Given the description of an element on the screen output the (x, y) to click on. 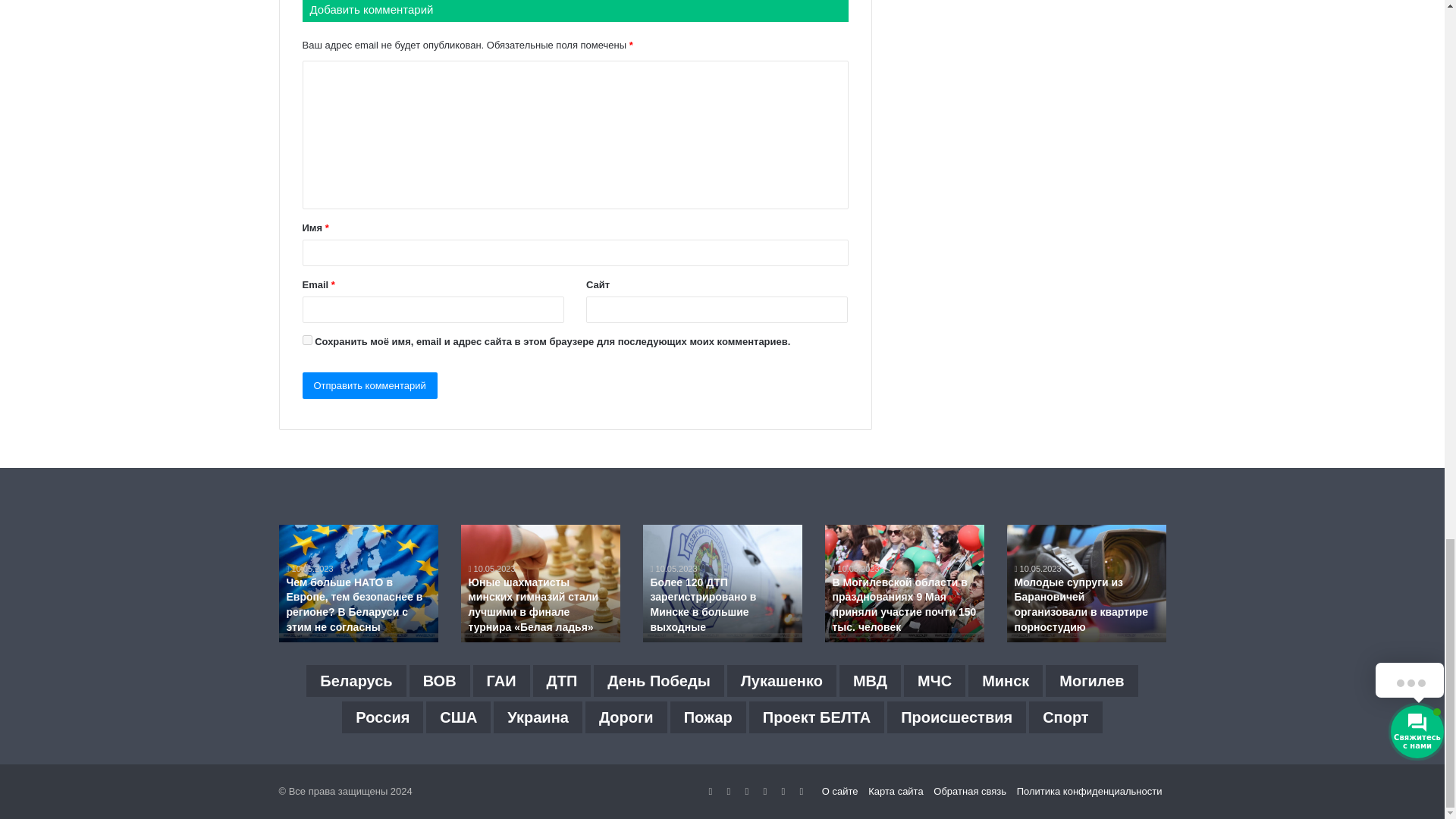
yes (306, 339)
